Given the description of an element on the screen output the (x, y) to click on. 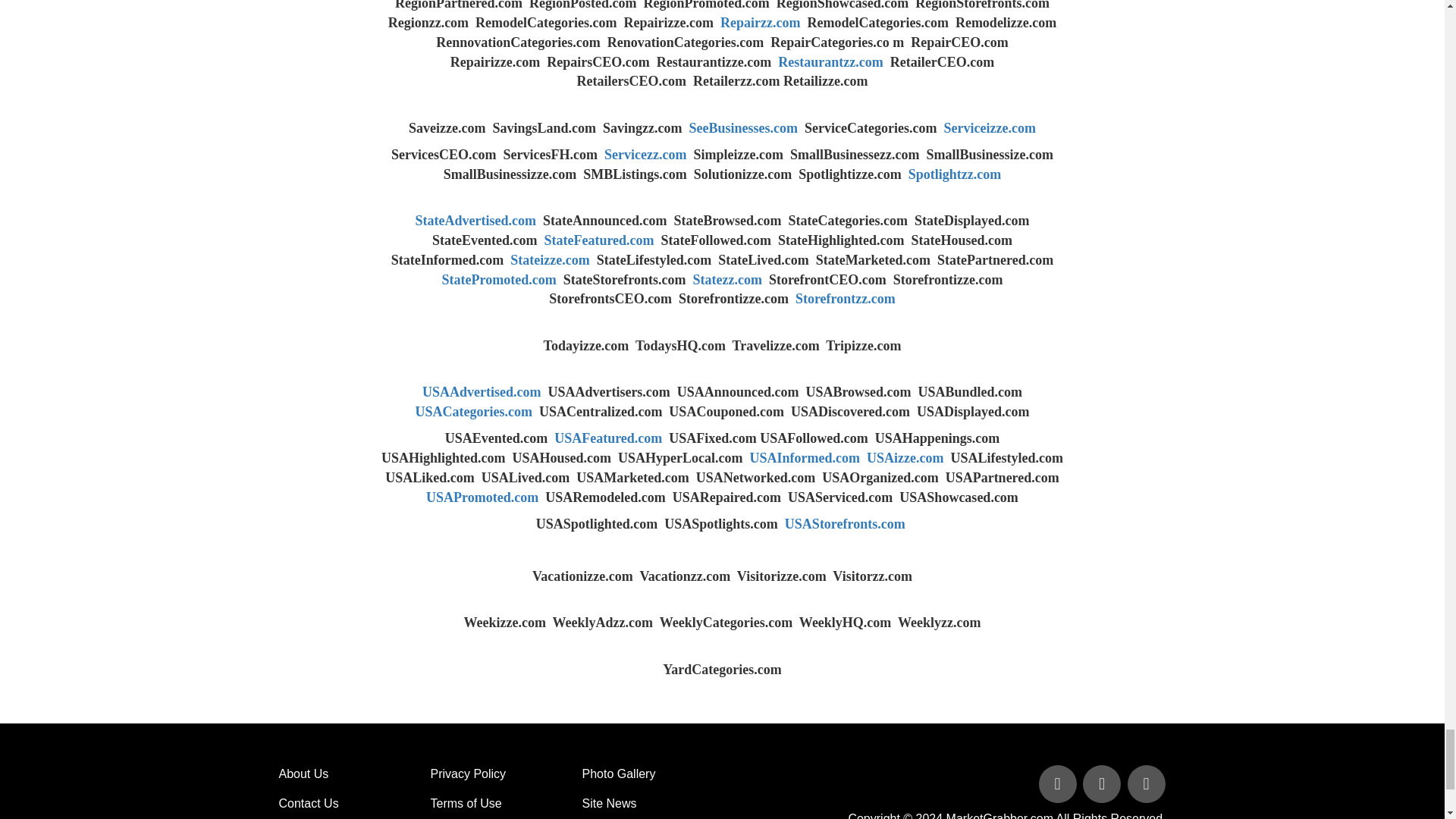
Follow Us on Twitter (1103, 784)
Follow Us on Linked In (1145, 784)
Follow Us on Facebook (1058, 784)
